Given the description of an element on the screen output the (x, y) to click on. 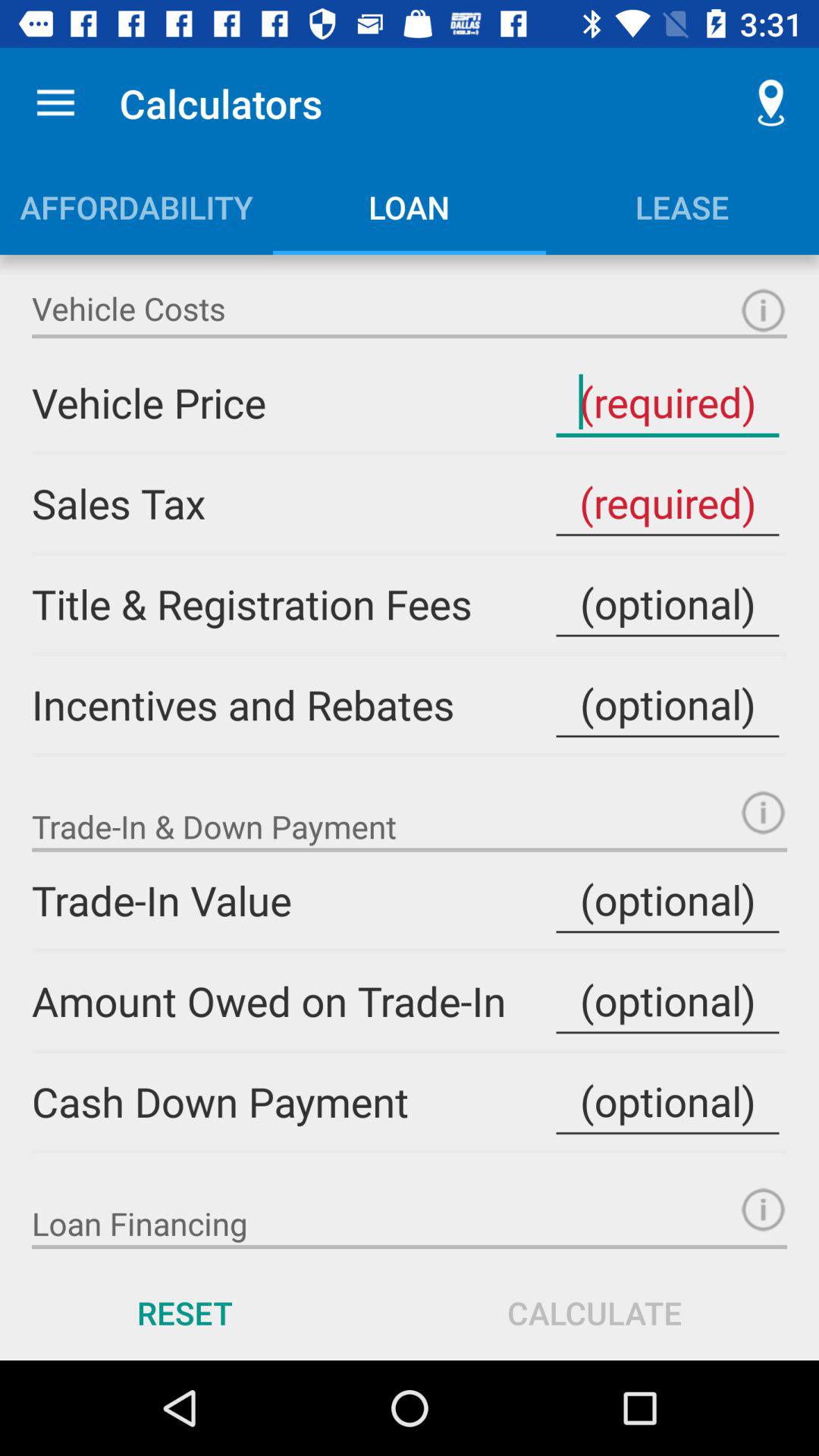
tap the icon next to calculators (771, 103)
